Given the description of an element on the screen output the (x, y) to click on. 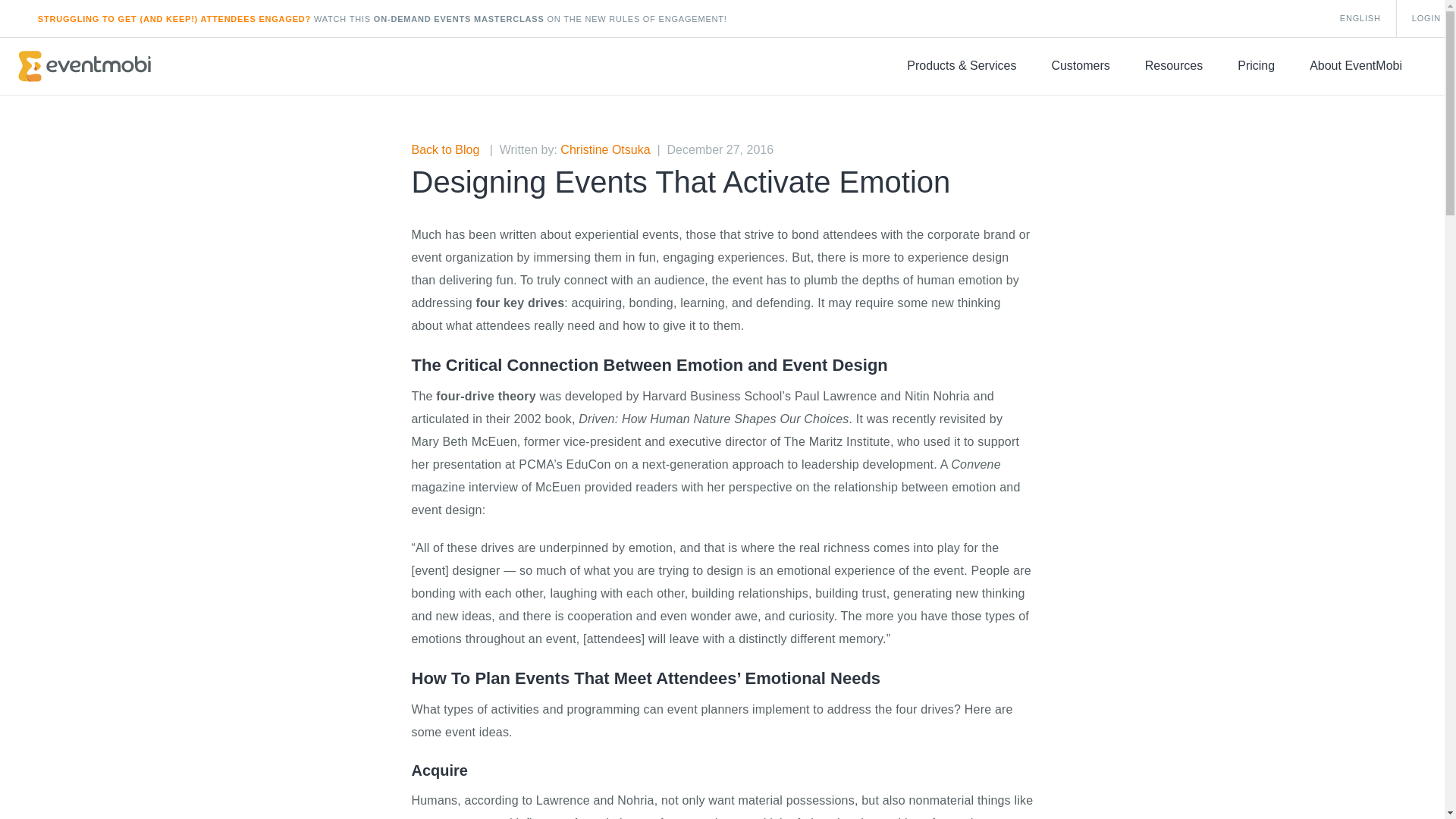
Posts by Christine Otsuka (604, 149)
EventMobi (84, 65)
